Given the description of an element on the screen output the (x, y) to click on. 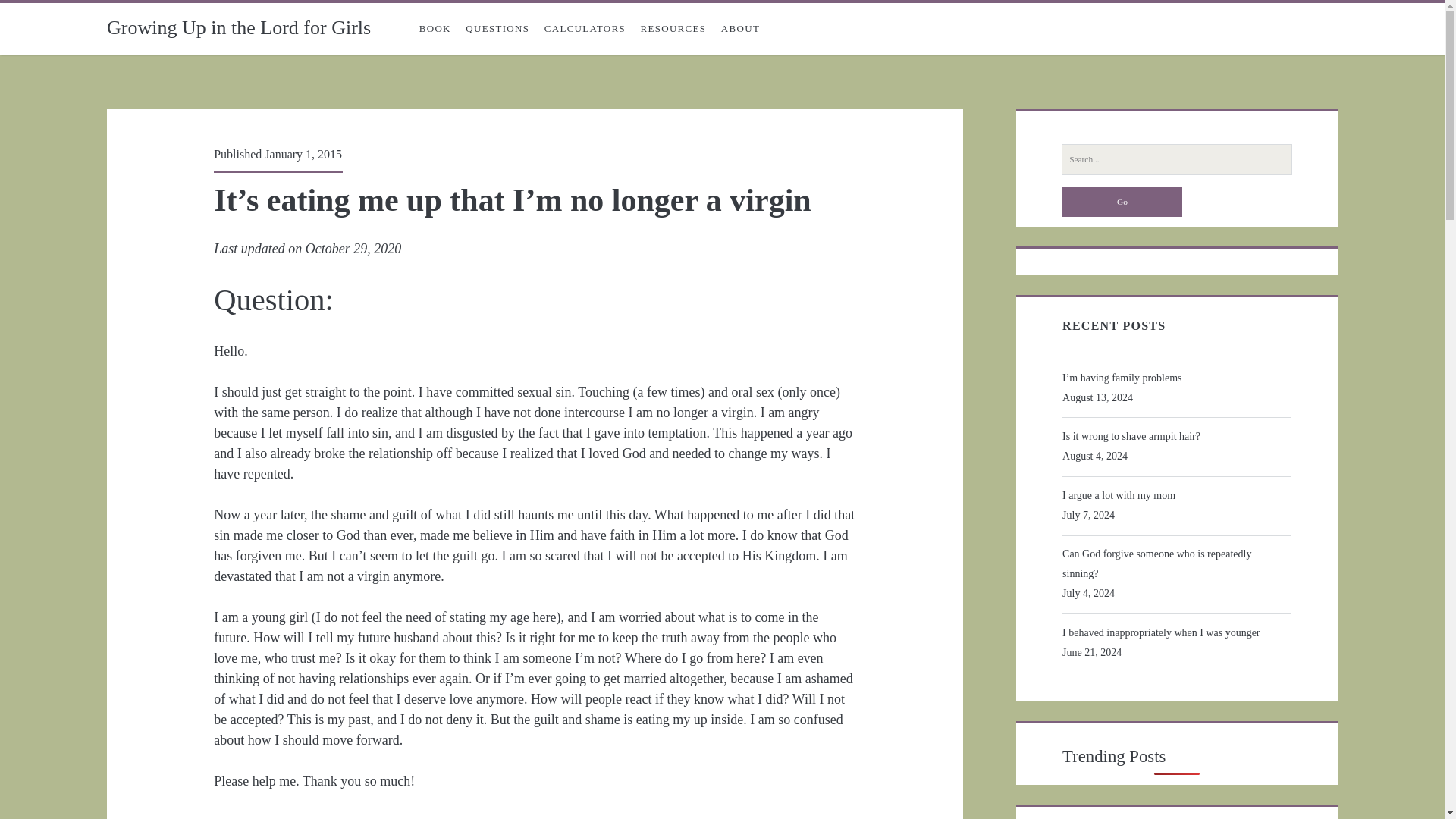
QUESTIONS (497, 28)
CALCULATORS (585, 28)
Go (1122, 202)
Growing Up in the Lord for Girls (238, 27)
BOOK (435, 28)
ABOUT (740, 28)
RESOURCES (673, 28)
Go (1122, 202)
